Given the description of an element on the screen output the (x, y) to click on. 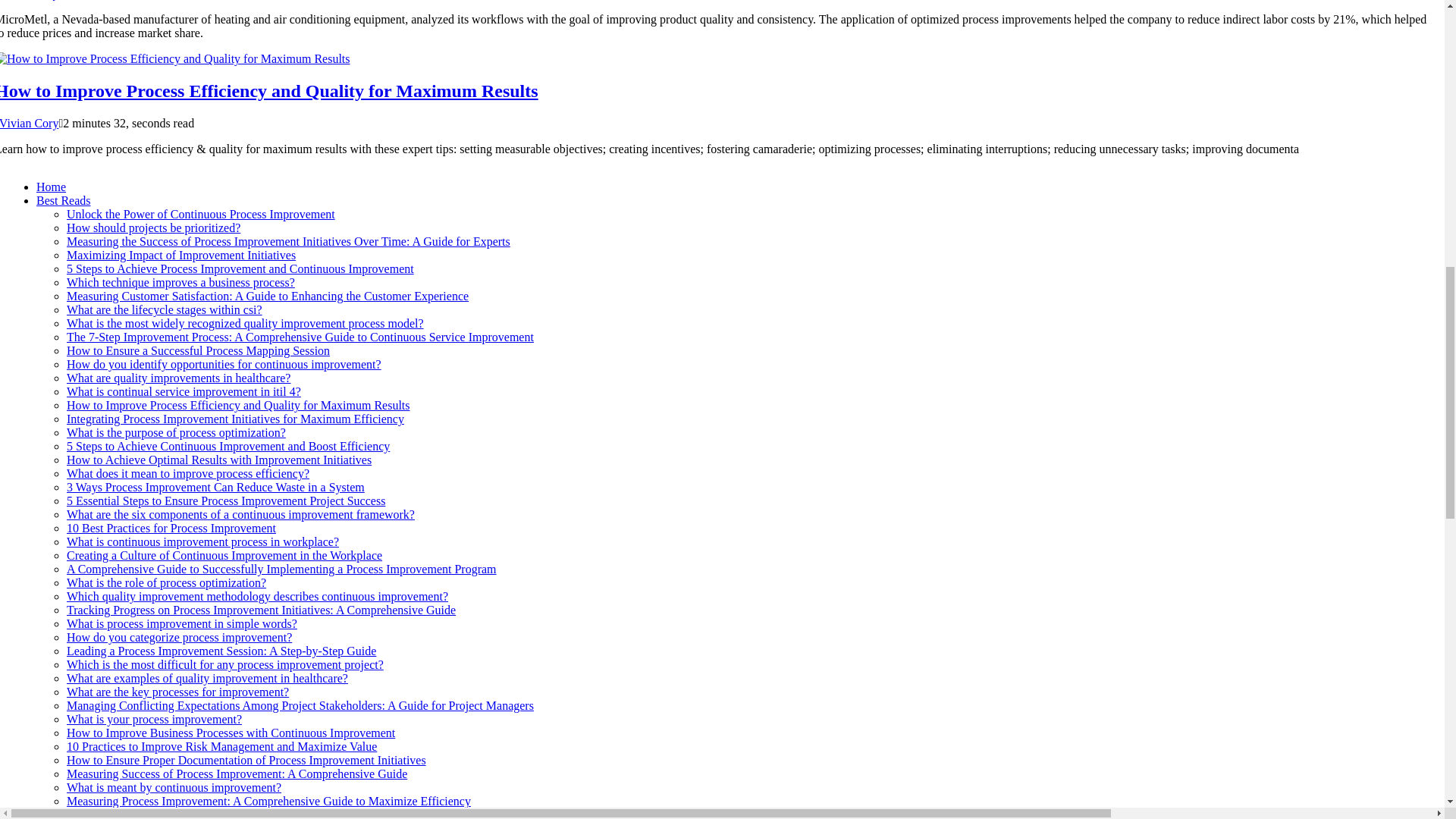
Best Reads (63, 200)
What are quality improvements in healthcare? (177, 377)
Maximizing Impact of Improvement Initiatives (180, 254)
Which technique improves a business process? (180, 282)
How should projects be prioritized? (153, 227)
Posts by Vivian Cory (29, 123)
What is the purpose of process optimization? (175, 431)
Vivian Cory (29, 123)
